Given the description of an element on the screen output the (x, y) to click on. 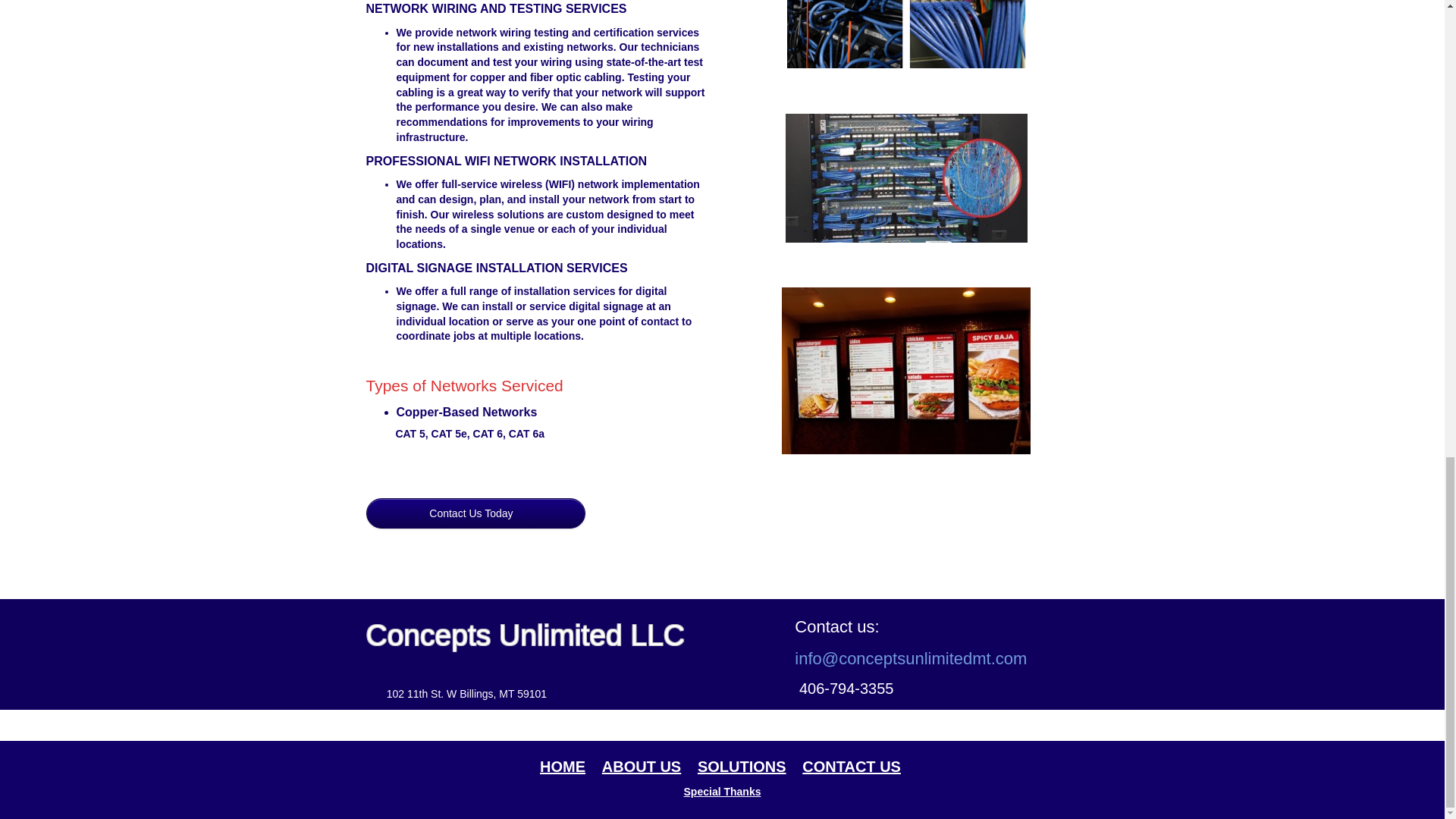
Special Thanks (722, 791)
SOLUTIONS (741, 756)
CONTACT US (851, 756)
HOME (562, 756)
ABOUT US (641, 756)
           Contact Us Today               (475, 512)
